Given the description of an element on the screen output the (x, y) to click on. 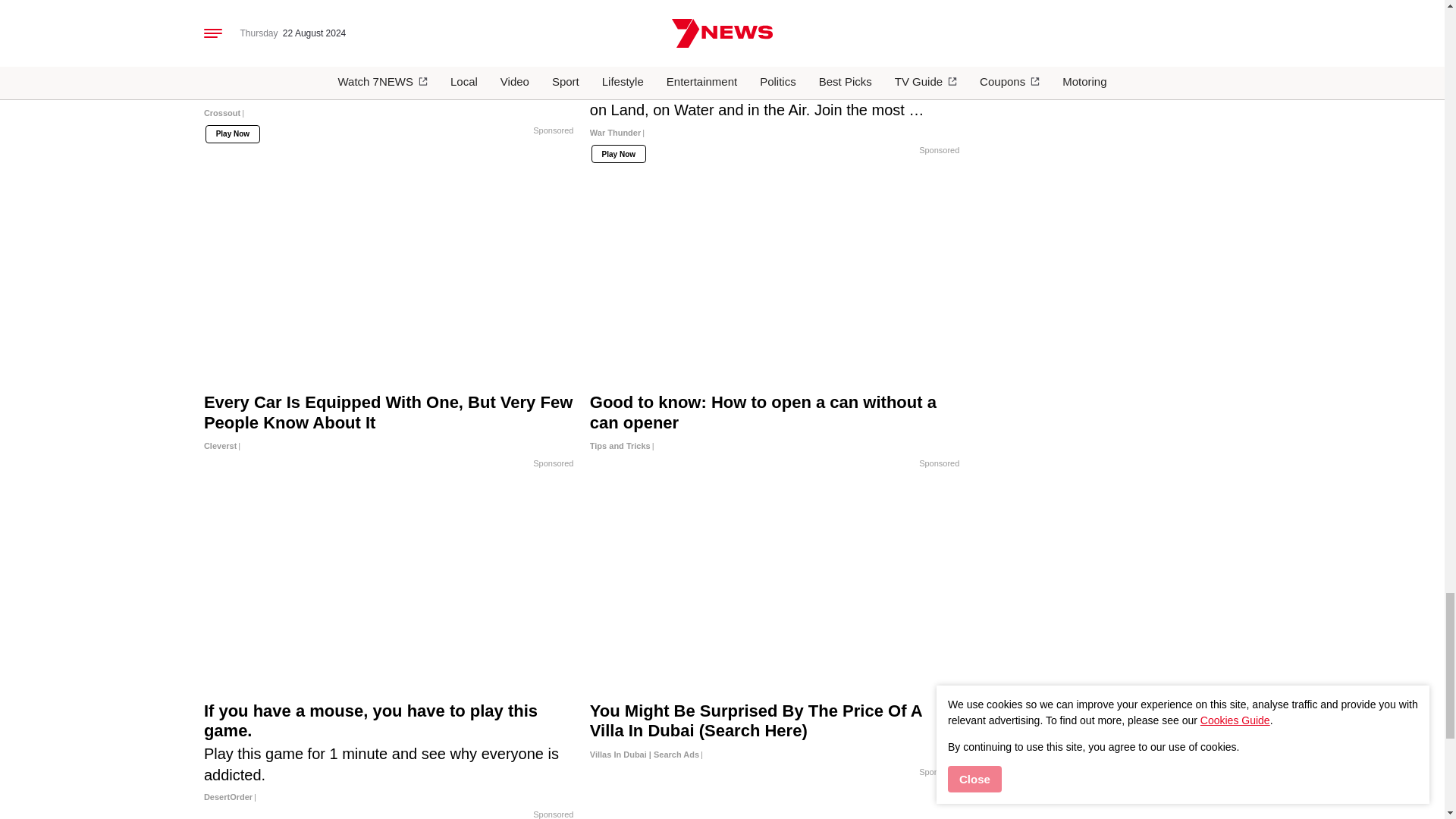
Shooter Action MMO (389, 85)
Shooter Action MMO (389, 16)
